Given the description of an element on the screen output the (x, y) to click on. 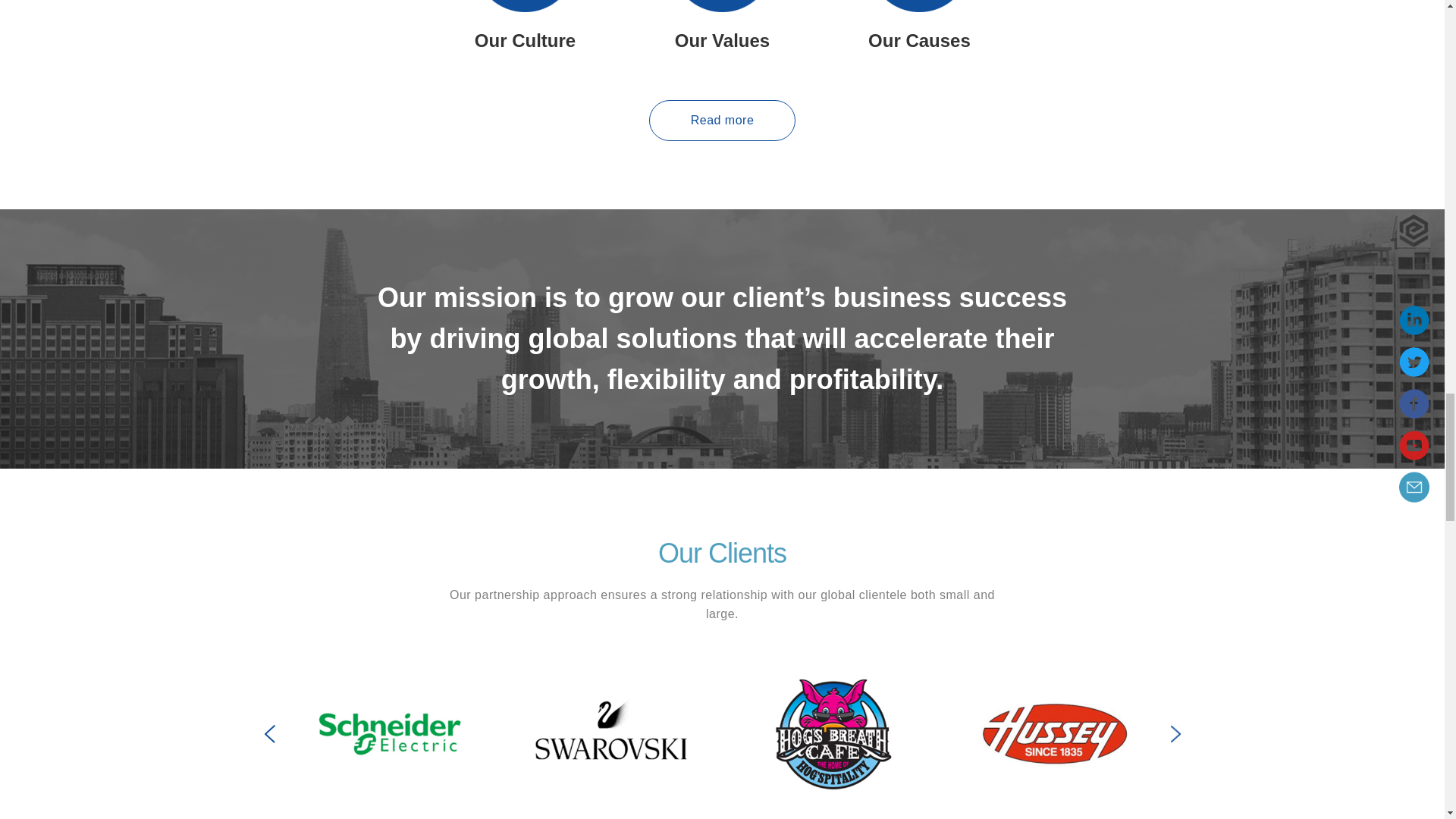
Read more (722, 119)
